Given the description of an element on the screen output the (x, y) to click on. 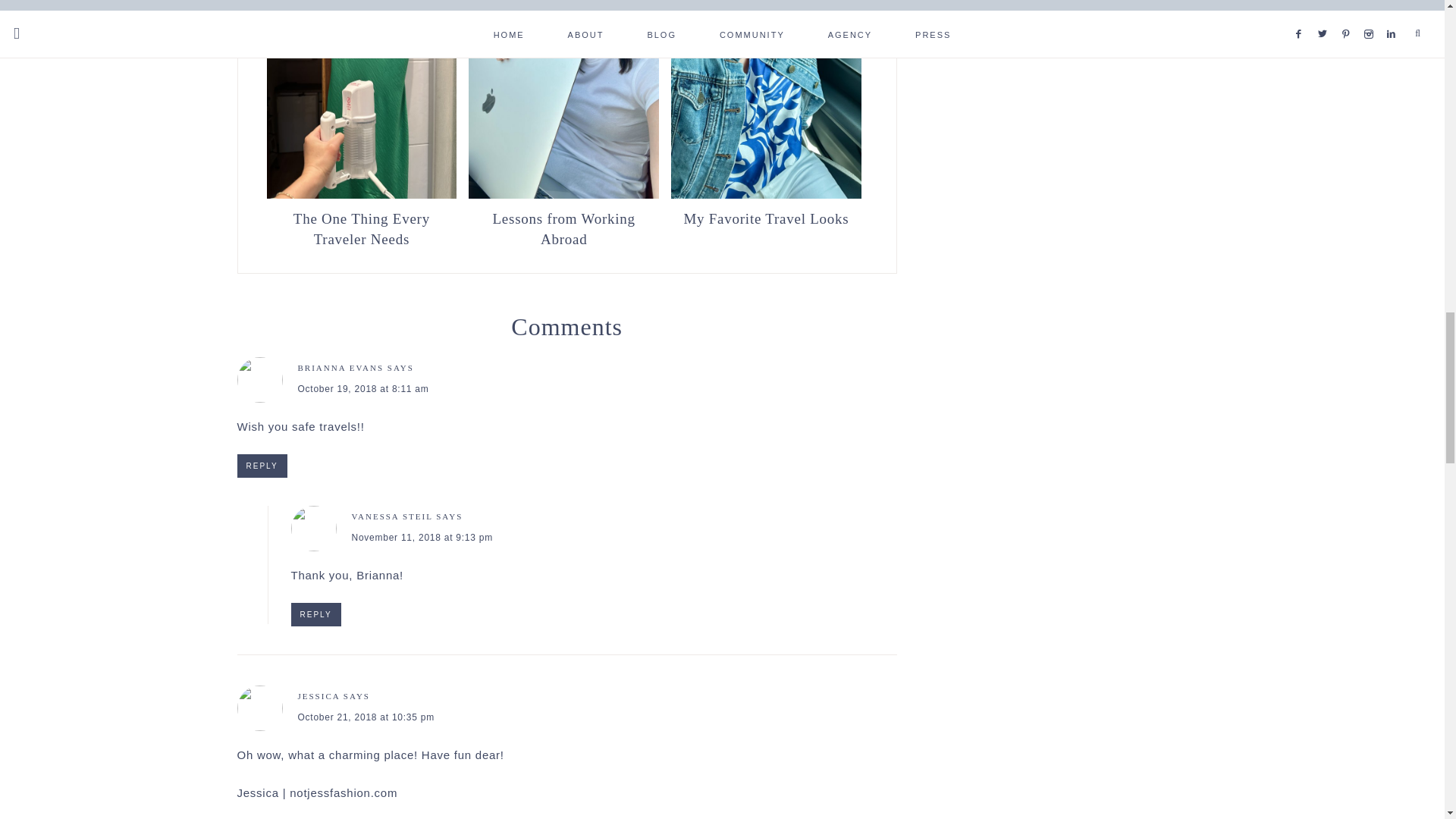
Permanent Link to The One Thing Every Traveler Needs (361, 227)
Permanent Link to The One Thing Every Traveler Needs (361, 194)
Permanent Link to Lessons from Working Abroad (563, 194)
